Given the description of an element on the screen output the (x, y) to click on. 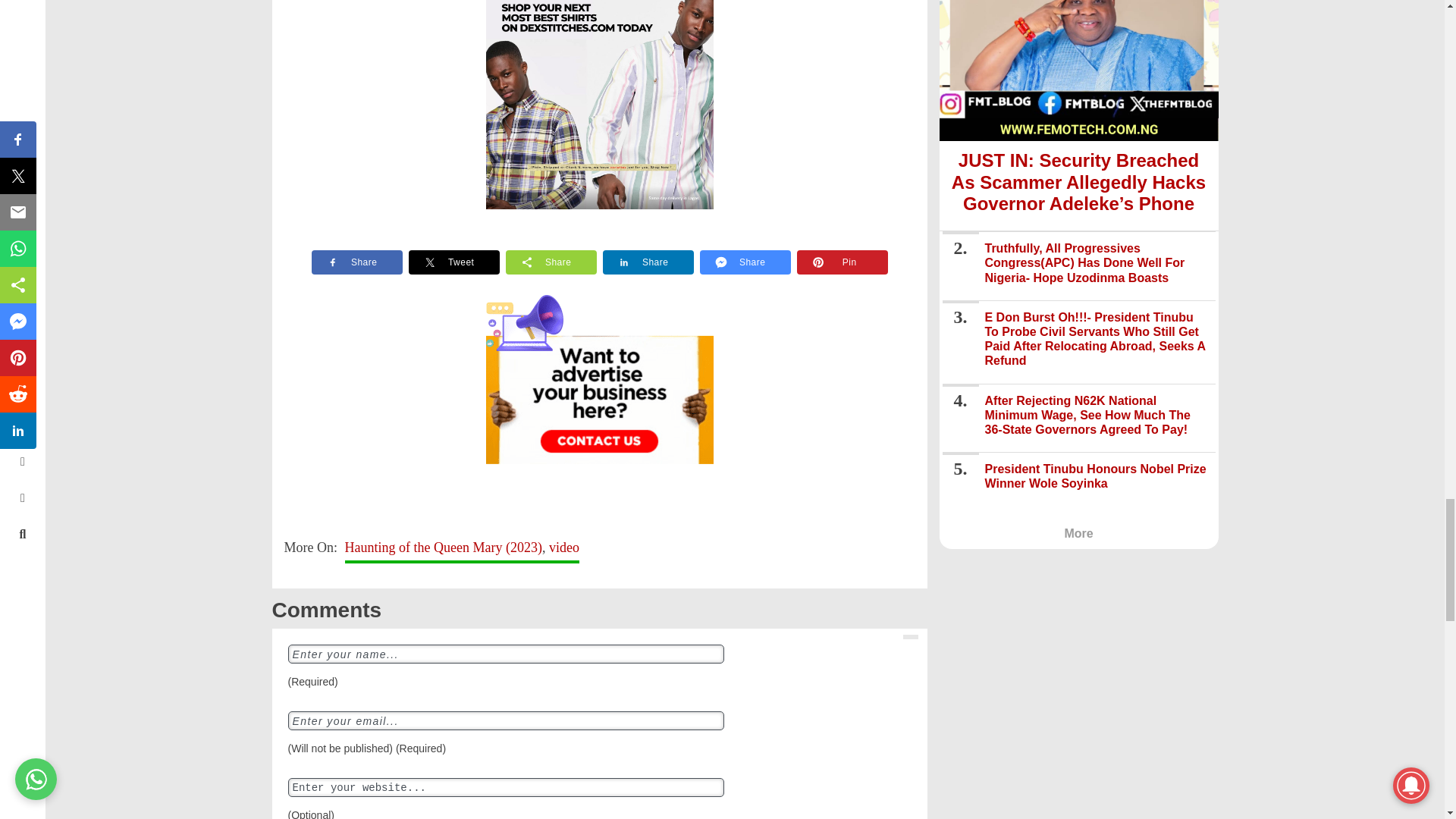
Enter your name... (505, 653)
Enter your email... (505, 720)
Enter your website... (505, 787)
